Given the description of an element on the screen output the (x, y) to click on. 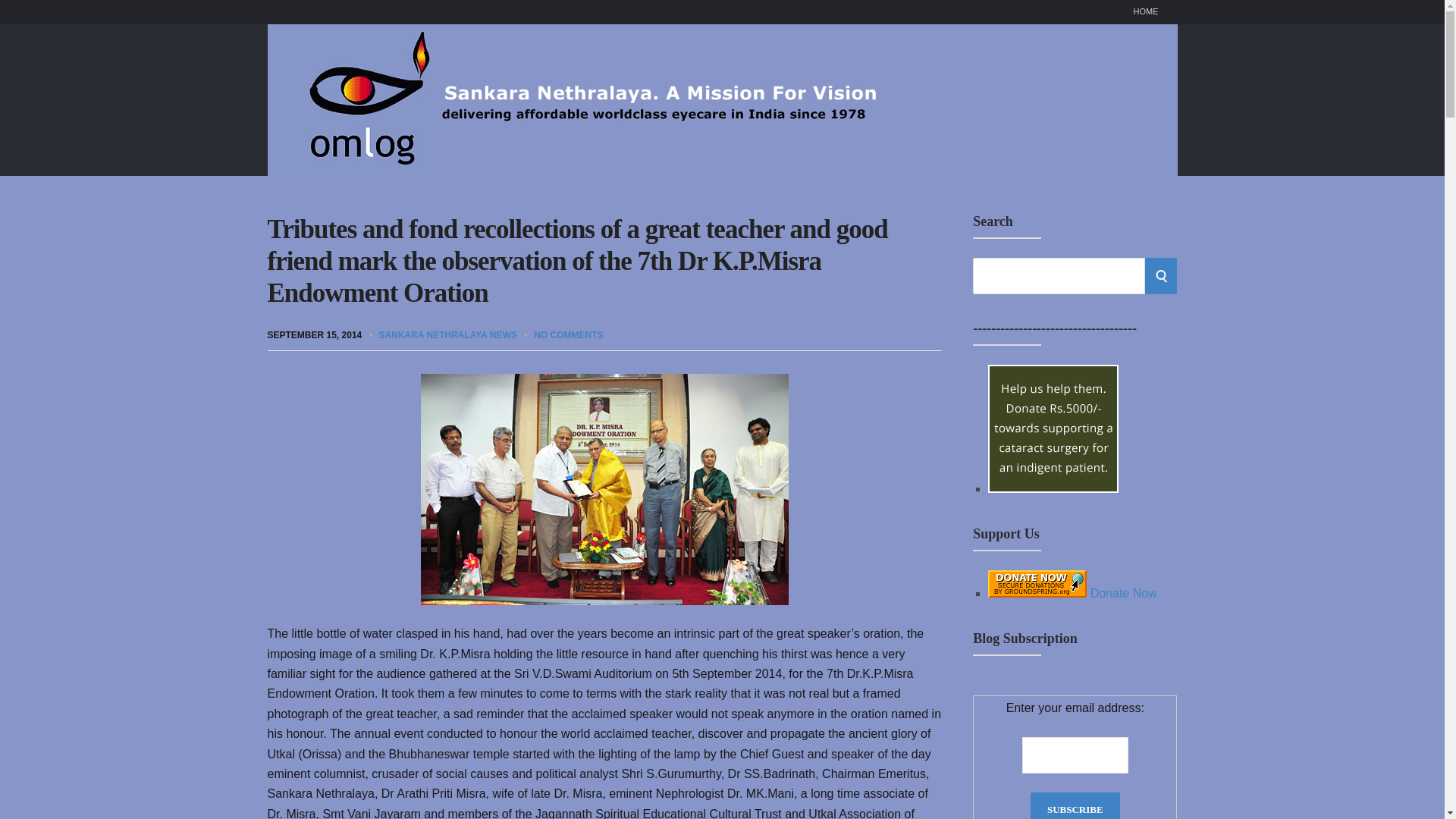
Subscribe (1074, 805)
Donate Now (1072, 593)
SANKARA NETHRALAYA NEWS (447, 334)
HOME (1144, 11)
Donate Now (1053, 428)
Subscribe (1074, 805)
Donate Now (1053, 488)
NO COMMENTS (568, 334)
